Given the description of an element on the screen output the (x, y) to click on. 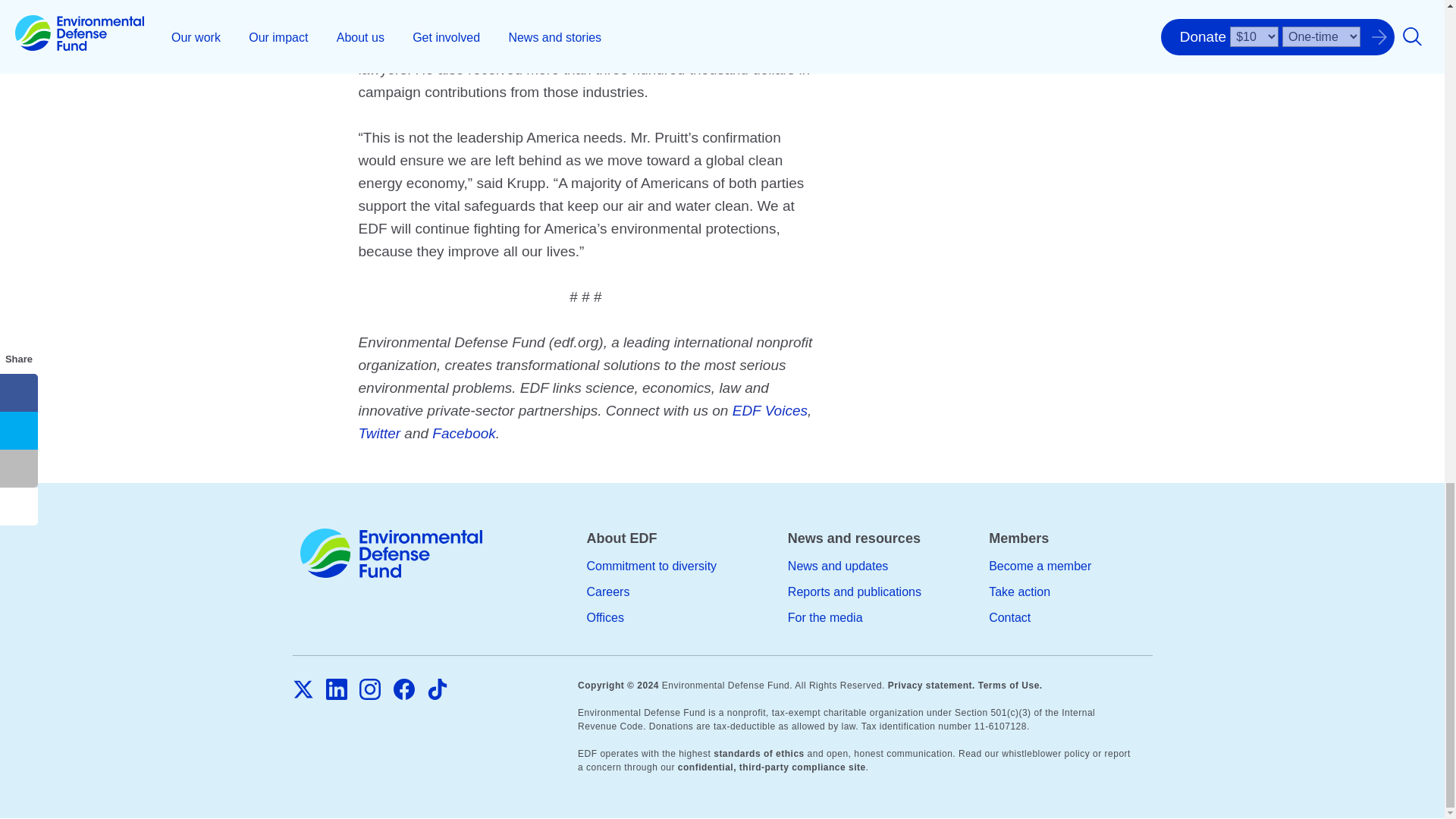
Twitter (303, 689)
LinkedIn (336, 689)
TikTok (437, 689)
Instagram (369, 689)
Facebook (403, 689)
